Given the description of an element on the screen output the (x, y) to click on. 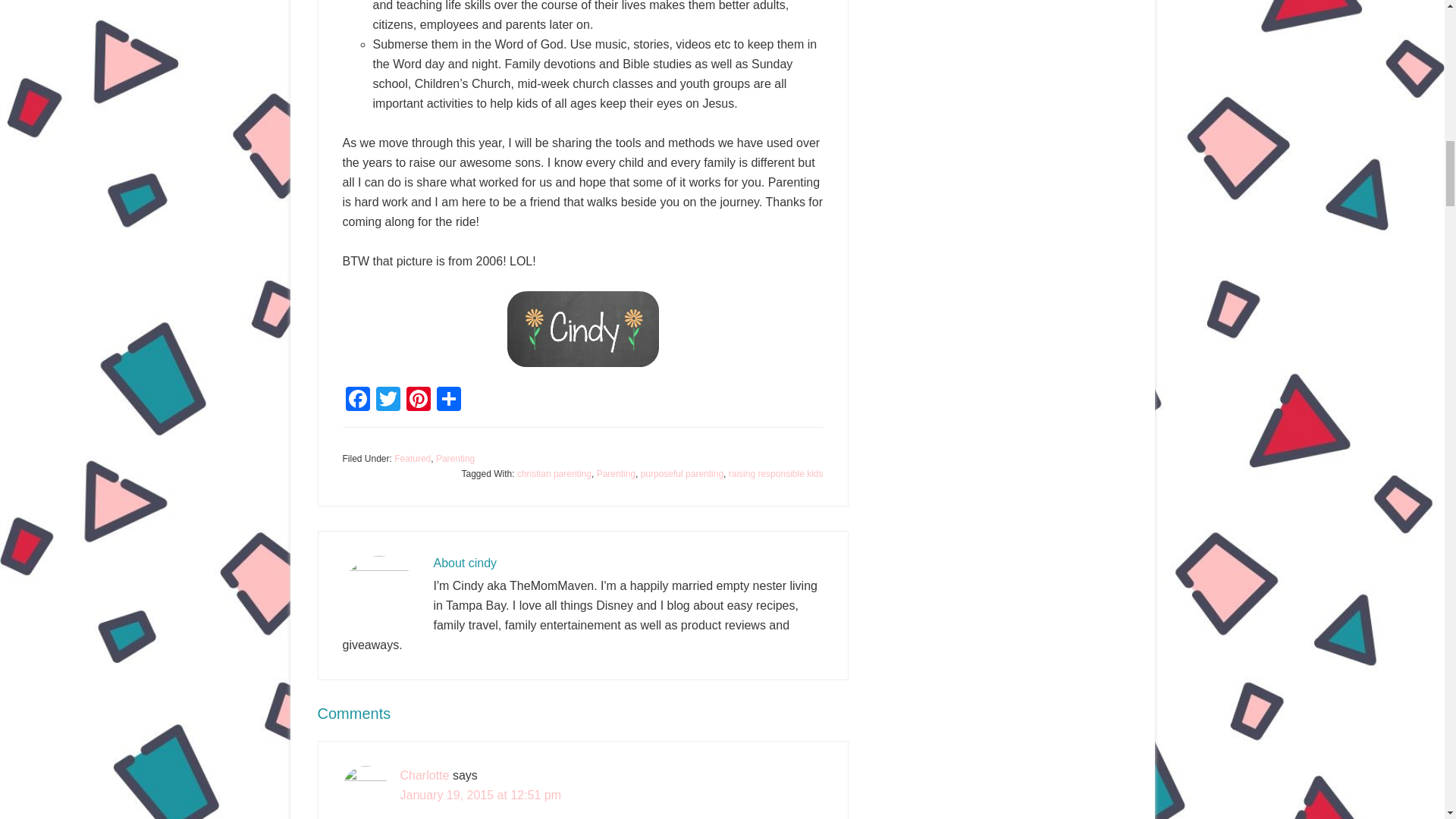
Facebook (357, 400)
Twitter (387, 400)
Pinterest (418, 400)
